Given the description of an element on the screen output the (x, y) to click on. 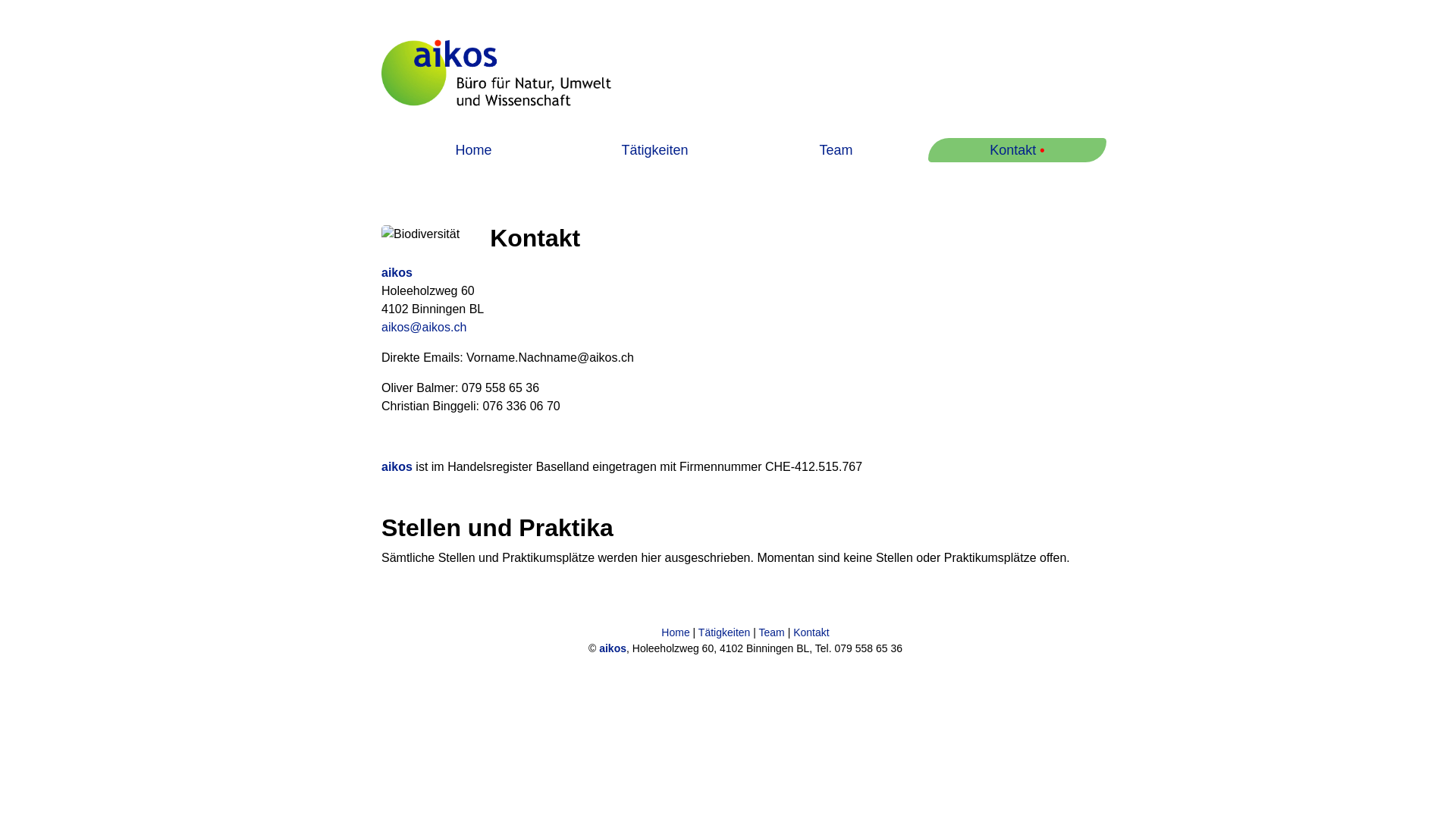
Team Element type: text (771, 632)
Team Element type: text (835, 149)
Home Element type: text (675, 632)
aikos@aikos.ch Element type: text (423, 326)
Kontakt Element type: text (1012, 149)
Kontakt Element type: text (810, 632)
Home Element type: text (473, 149)
